Given the description of an element on the screen output the (x, y) to click on. 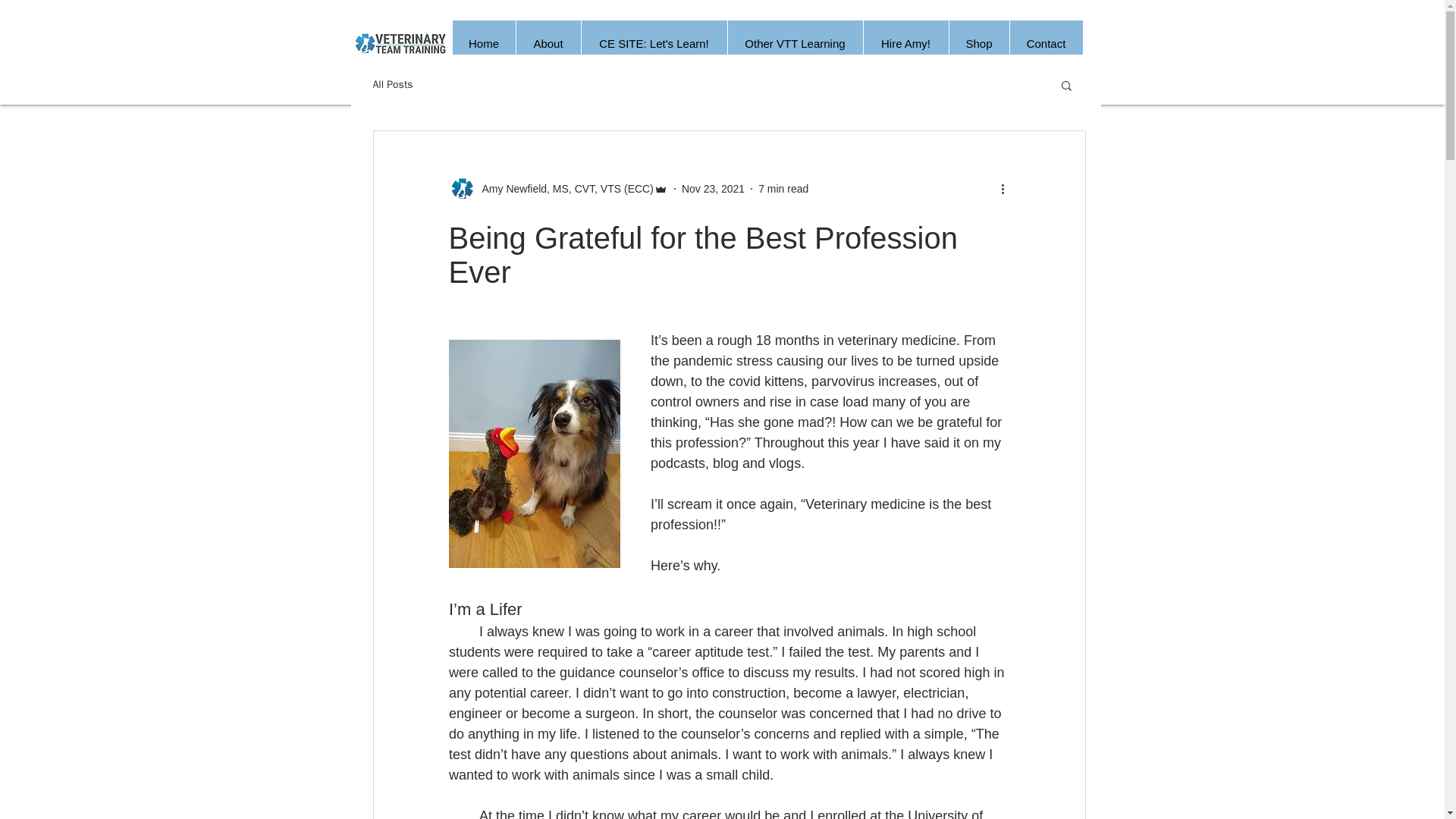
7 min read (783, 187)
CE SITE: Let's Learn! (653, 43)
About (547, 43)
Shop (978, 43)
All Posts (392, 84)
Other VTT Learning (793, 43)
Home (483, 43)
Nov 23, 2021 (712, 187)
Contact (1045, 43)
Hire Amy! (906, 43)
